Given the description of an element on the screen output the (x, y) to click on. 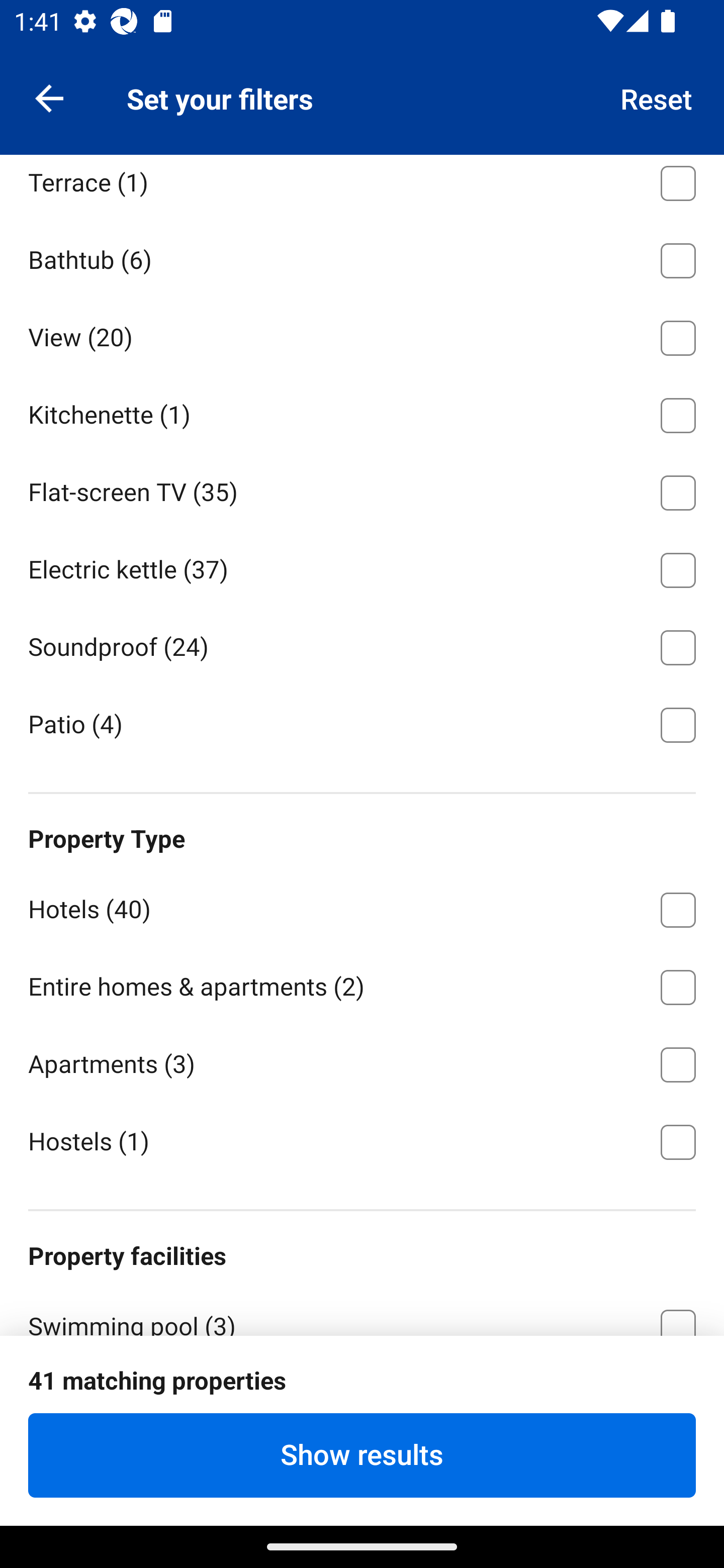
Navigate up (49, 97)
Reset (656, 97)
Washing machine ⁦(4) (361, 102)
Terrace ⁦(1) (361, 186)
Bathtub ⁦(6) (361, 256)
View ⁦(20) (361, 334)
Kitchenette ⁦(1) (361, 412)
Flat-screen TV ⁦(35) (361, 489)
Electric kettle ⁦(37) (361, 566)
Soundproof ⁦(24) (361, 644)
Patio ⁦(4) (361, 723)
Hotels ⁦(40) (361, 906)
Entire homes & apartments ⁦(2) (361, 983)
Apartments ⁦(3) (361, 1061)
Hostels ⁦(1) (361, 1140)
Swimming pool ⁦(3) (361, 1310)
Free parking ⁦(27) (361, 1400)
Show results (361, 1454)
